Given the description of an element on the screen output the (x, y) to click on. 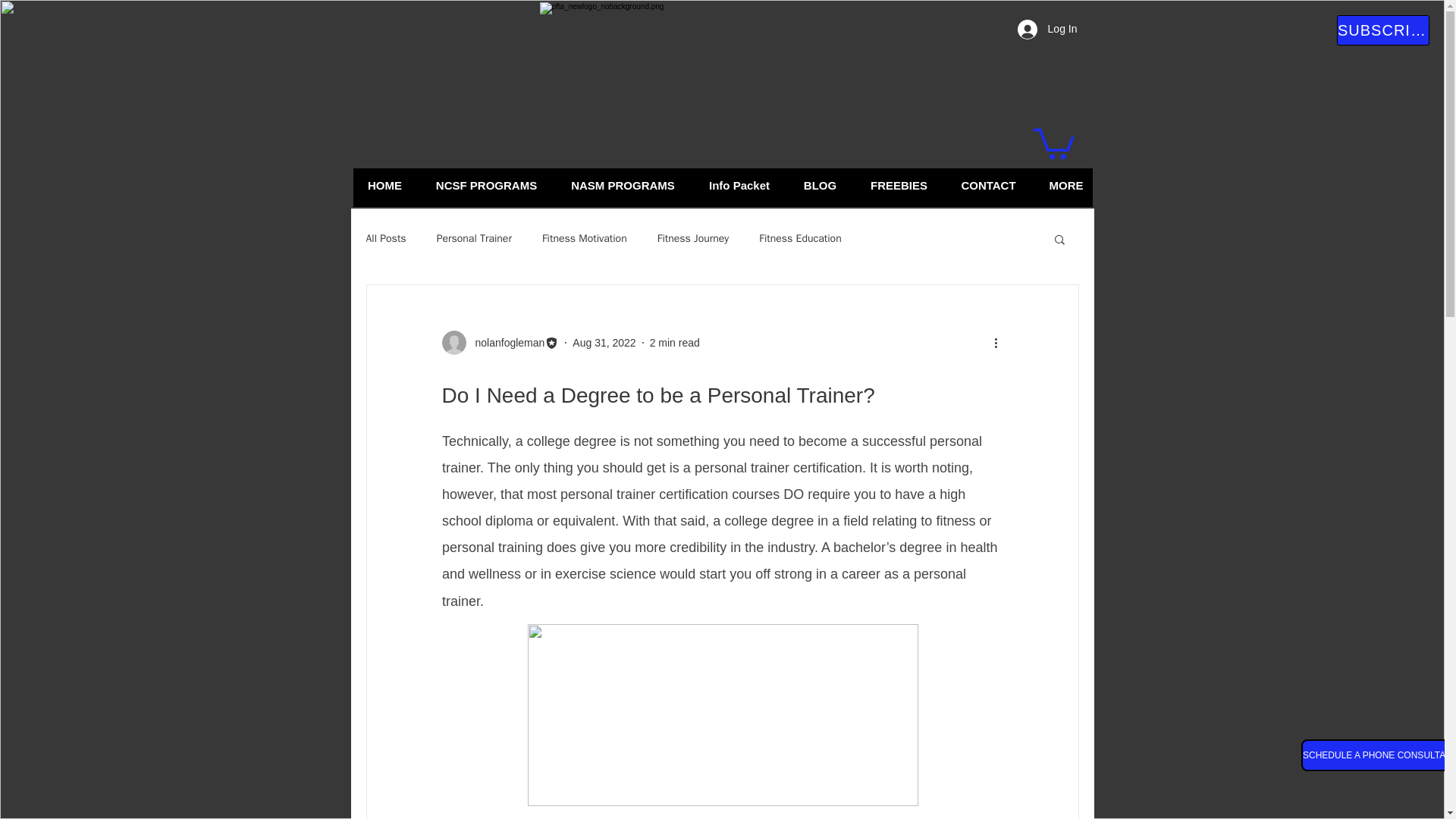
CONTACT (988, 185)
BLOG (820, 185)
Aug 31, 2022 (603, 342)
2 min read (674, 342)
SUBSCRIBE (1382, 30)
Log In (1047, 29)
HOME (384, 185)
Fitness Motivation (584, 238)
FREEBIES (898, 185)
NASM PROGRAMS (622, 185)
Fitness Journey (693, 238)
Fitness Education (799, 238)
nolanfogleman (504, 342)
NCSF PROGRAMS (486, 185)
Info Packet (738, 185)
